Given the description of an element on the screen output the (x, y) to click on. 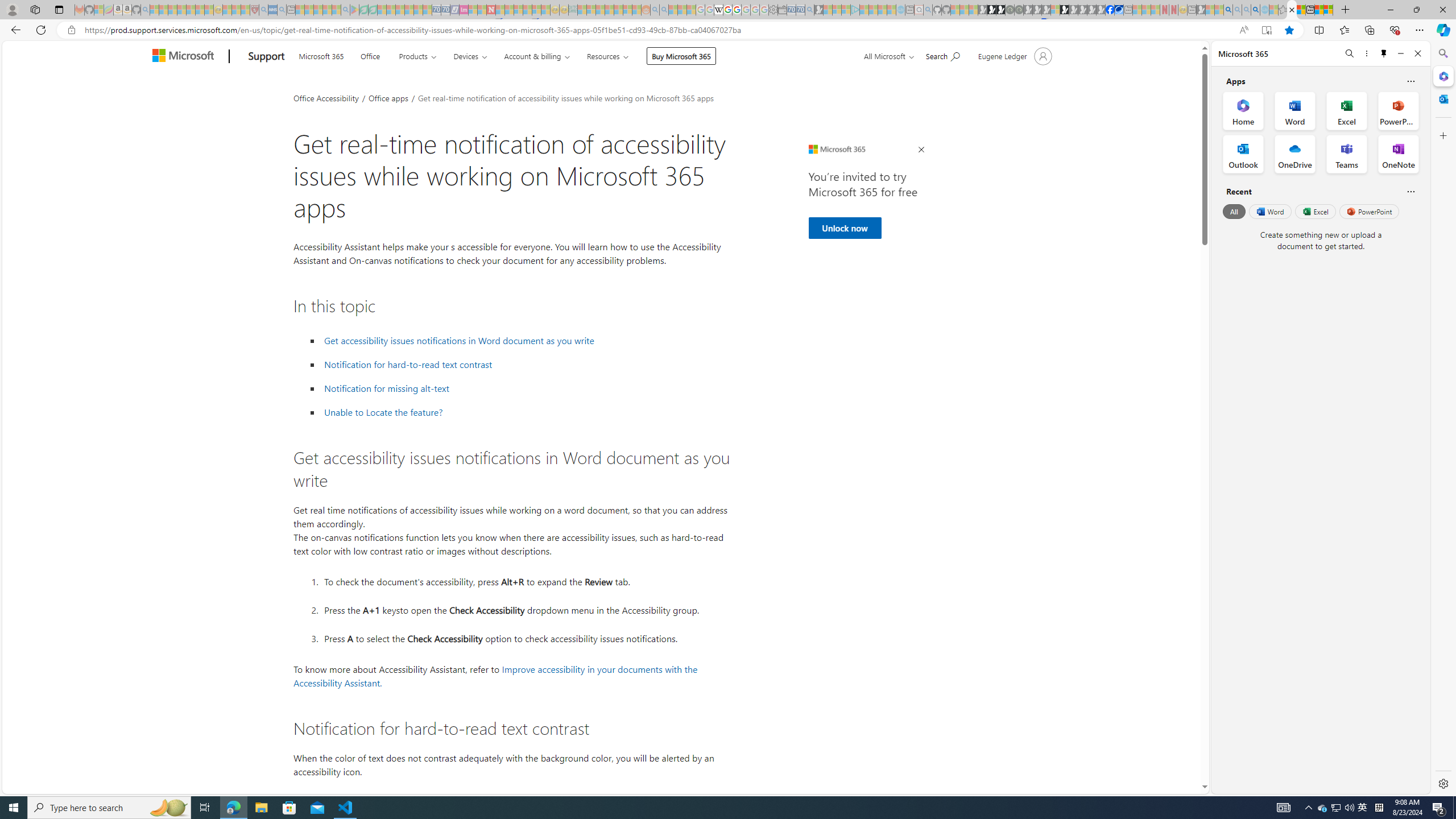
Nordace | Facebook (1109, 9)
Outlook Office App (1243, 154)
